Given the description of an element on the screen output the (x, y) to click on. 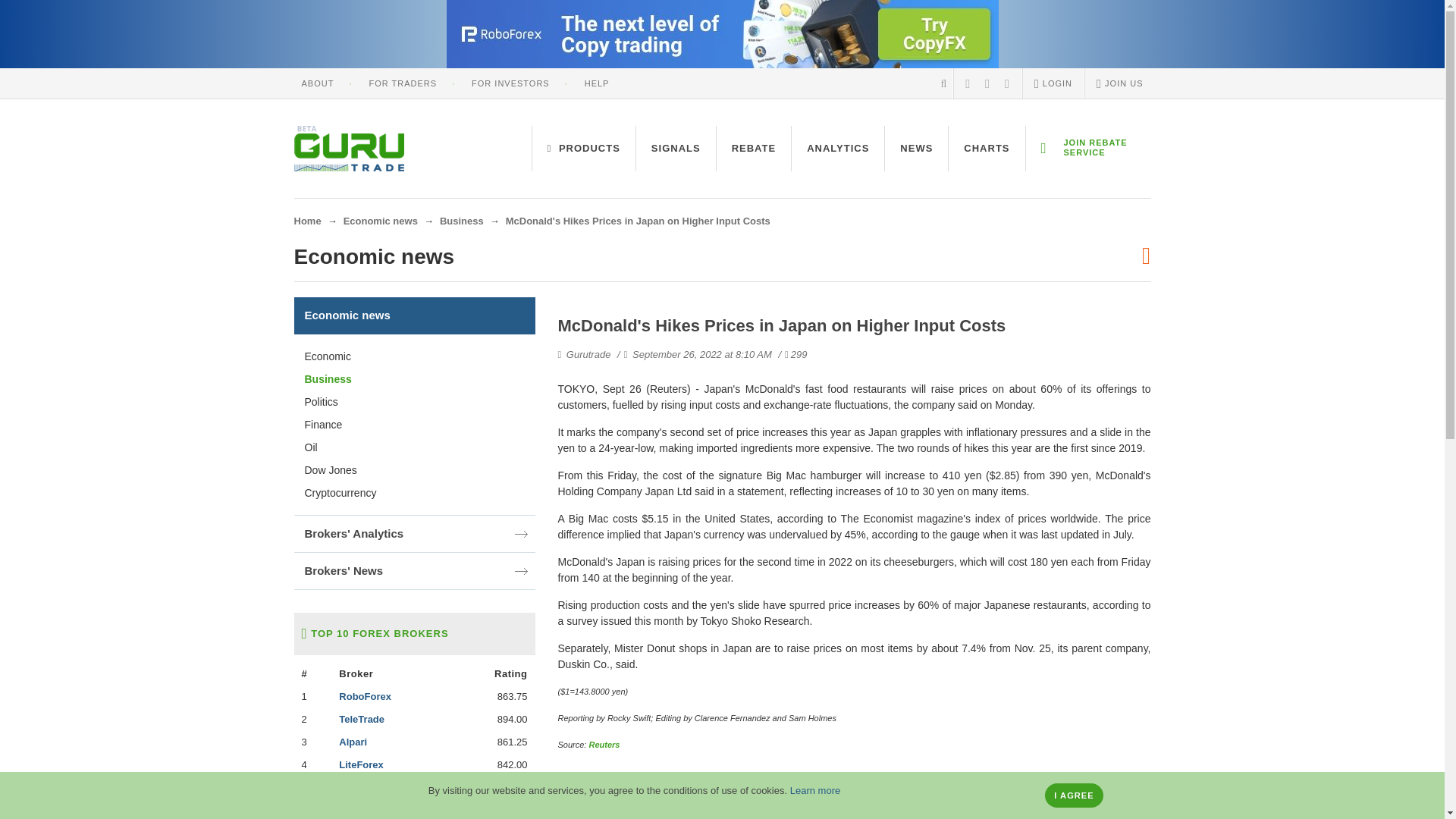
Share on Twitter (639, 806)
Share on Facebook (581, 806)
ABOUT (317, 82)
FOR INVESTORS (510, 82)
CHARTS (987, 148)
ANALYTICS (837, 148)
LOGIN (1052, 82)
REBATE (753, 148)
Business (461, 221)
FOR TRADERS (402, 82)
JOIN US (1119, 82)
Economic news (380, 221)
NEWS (916, 148)
Home (307, 221)
PRODUCTS (583, 148)
